Given the description of an element on the screen output the (x, y) to click on. 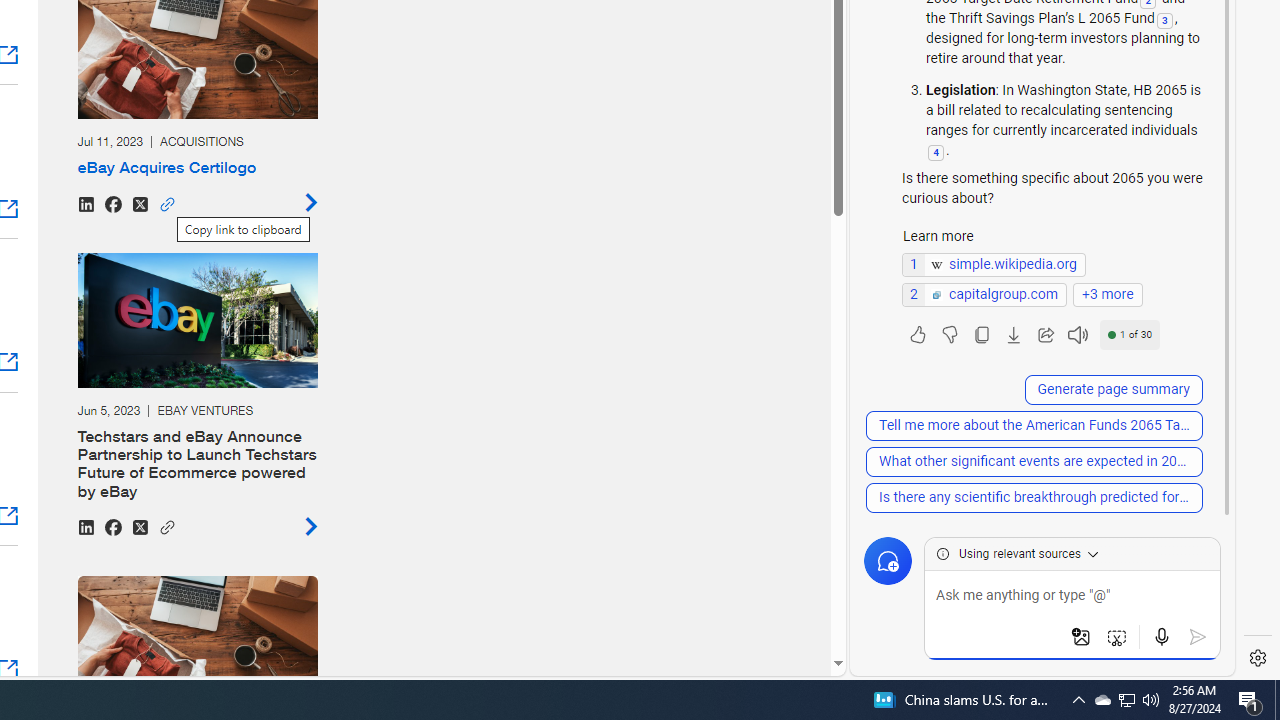
Copy link to clipboard (166, 524)
Share on X (Twitter) (139, 526)
Share on Facebook (112, 526)
Share on LinkedIn (85, 526)
